Given the description of an element on the screen output the (x, y) to click on. 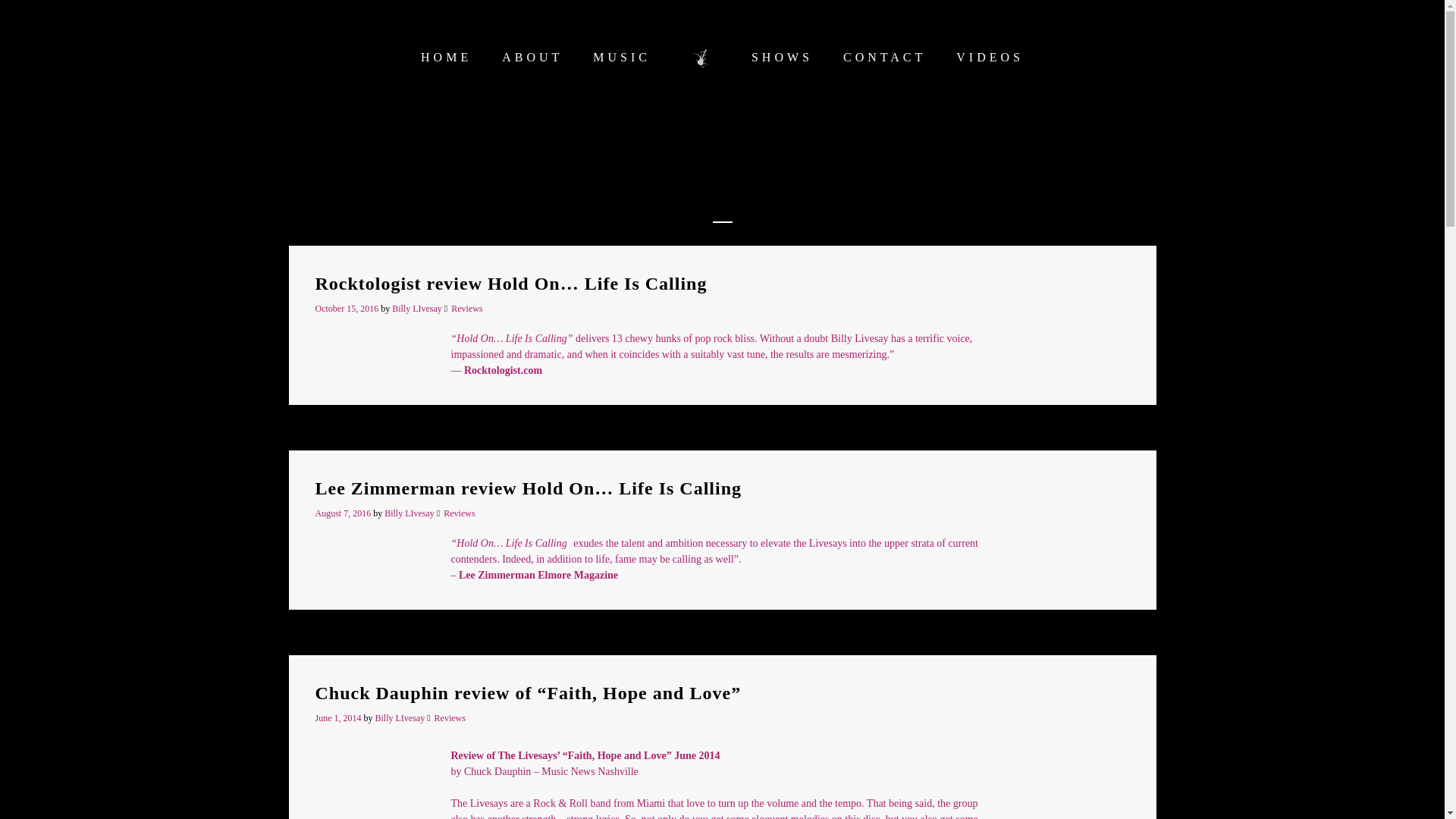
Reviews (459, 513)
Rocktologist.com (502, 369)
Billy LIvesay (408, 512)
HOME (446, 57)
Billy LIvesay (416, 308)
MUSIC (621, 57)
SHOWS (782, 57)
VIDEOS (989, 57)
Reviews (449, 717)
Reviews (466, 308)
Billy LIvesay (399, 717)
June 1, 2014 (339, 717)
ABOUT (532, 57)
CONTACT (884, 57)
October 15, 2016 (348, 308)
